Given the description of an element on the screen output the (x, y) to click on. 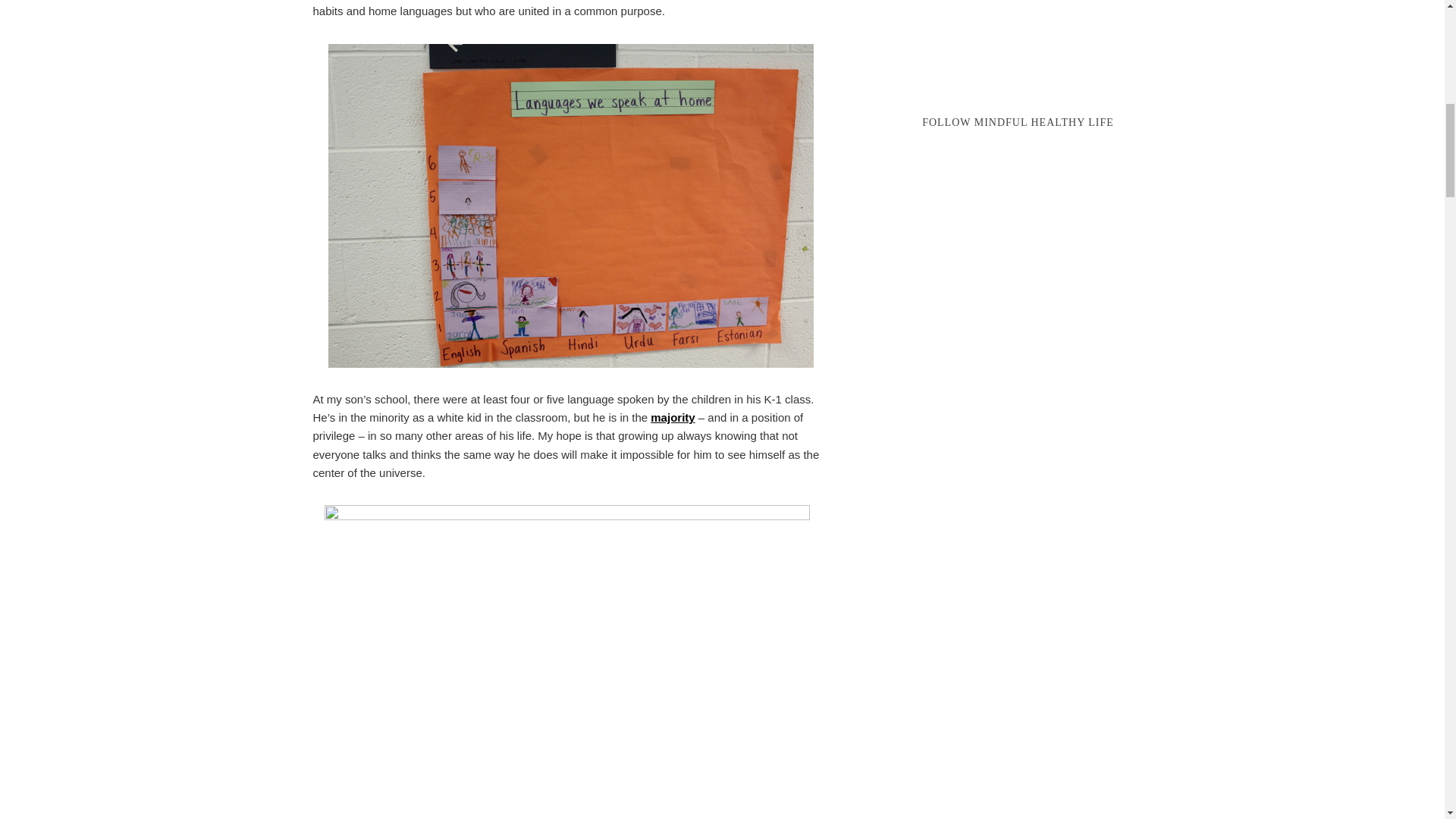
majority (672, 417)
